Given the description of an element on the screen output the (x, y) to click on. 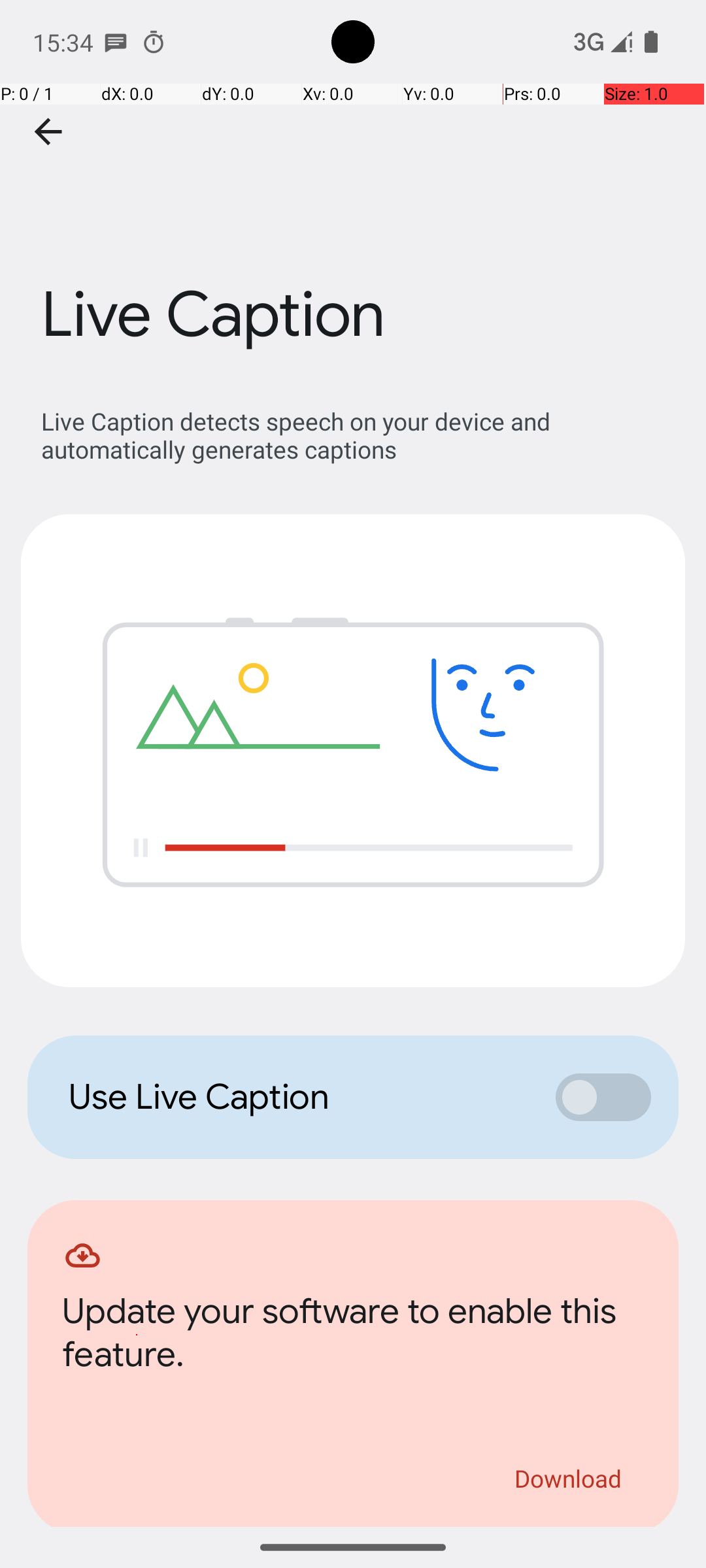
Live Caption detects speech on your device and automatically generates captions Element type: android.widget.TextView (359, 434)
Use Live Caption Element type: android.widget.TextView (298, 1096)
Update your software to enable this feature. Element type: android.widget.TextView (352, 1336)
